Given the description of an element on the screen output the (x, y) to click on. 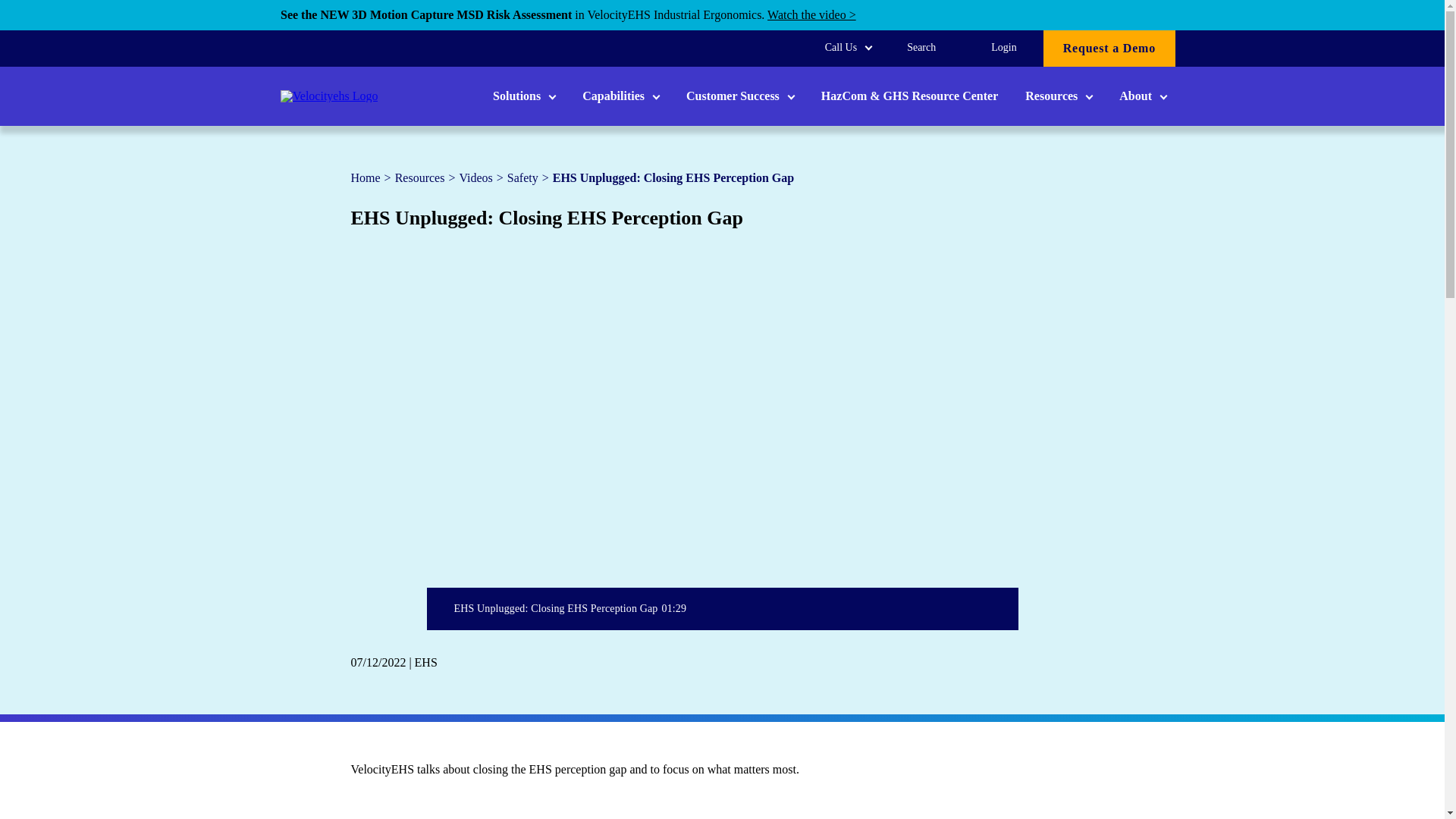
Search (921, 47)
Request a Demo (1108, 48)
VelocityEHS home (329, 95)
Capabilities (620, 96)
Call Us (847, 47)
Solutions (523, 96)
Login (1003, 47)
